Given the description of an element on the screen output the (x, y) to click on. 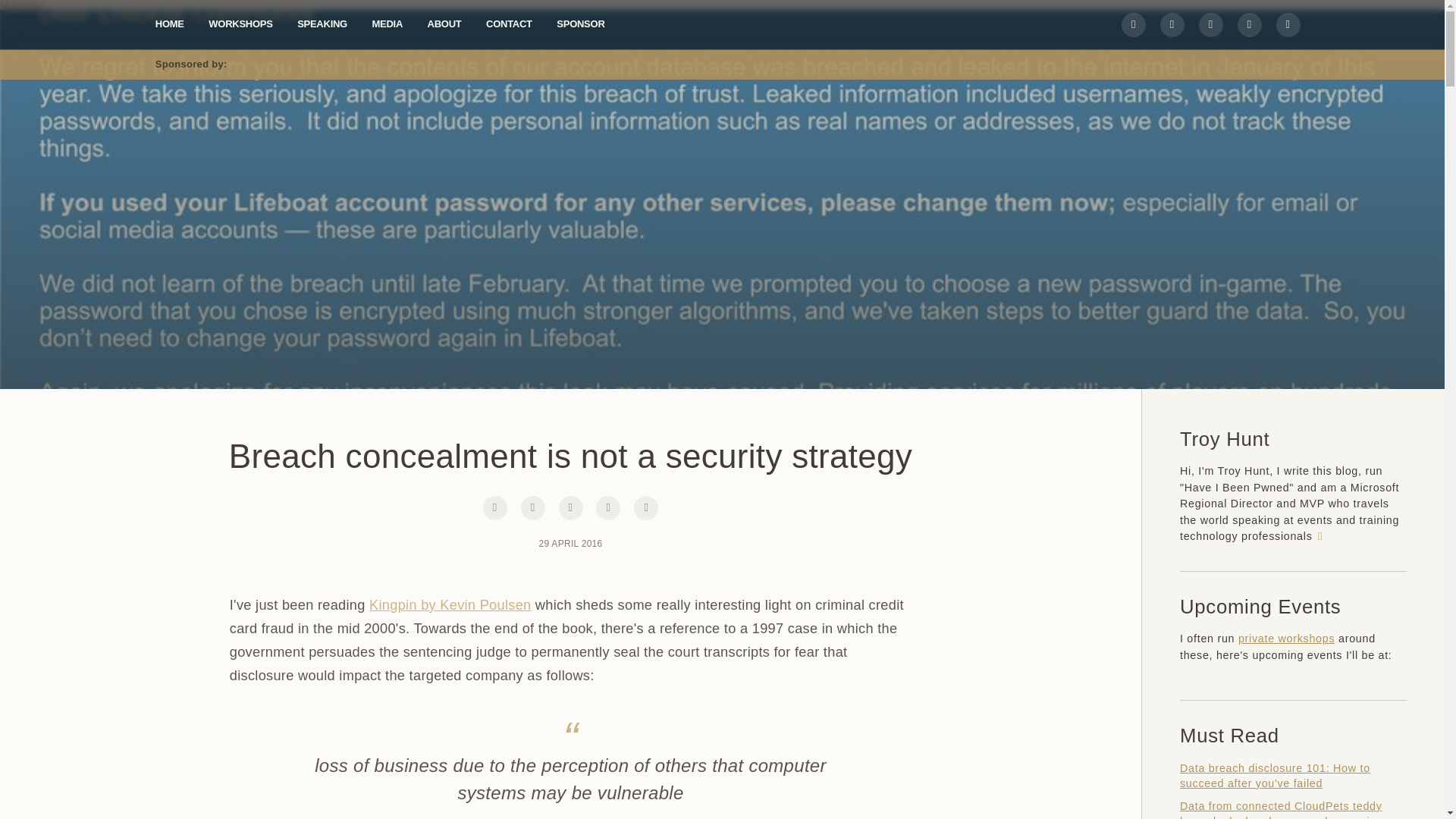
Kingpin by Kevin Poulsen (450, 604)
SPEAKING (322, 23)
CONTACT (509, 23)
WORKSHOPS (240, 23)
MEDIA (387, 23)
ABOUT (444, 23)
Mastodon (22, 5)
SPONSOR (580, 23)
HOME (169, 23)
